Given the description of an element on the screen output the (x, y) to click on. 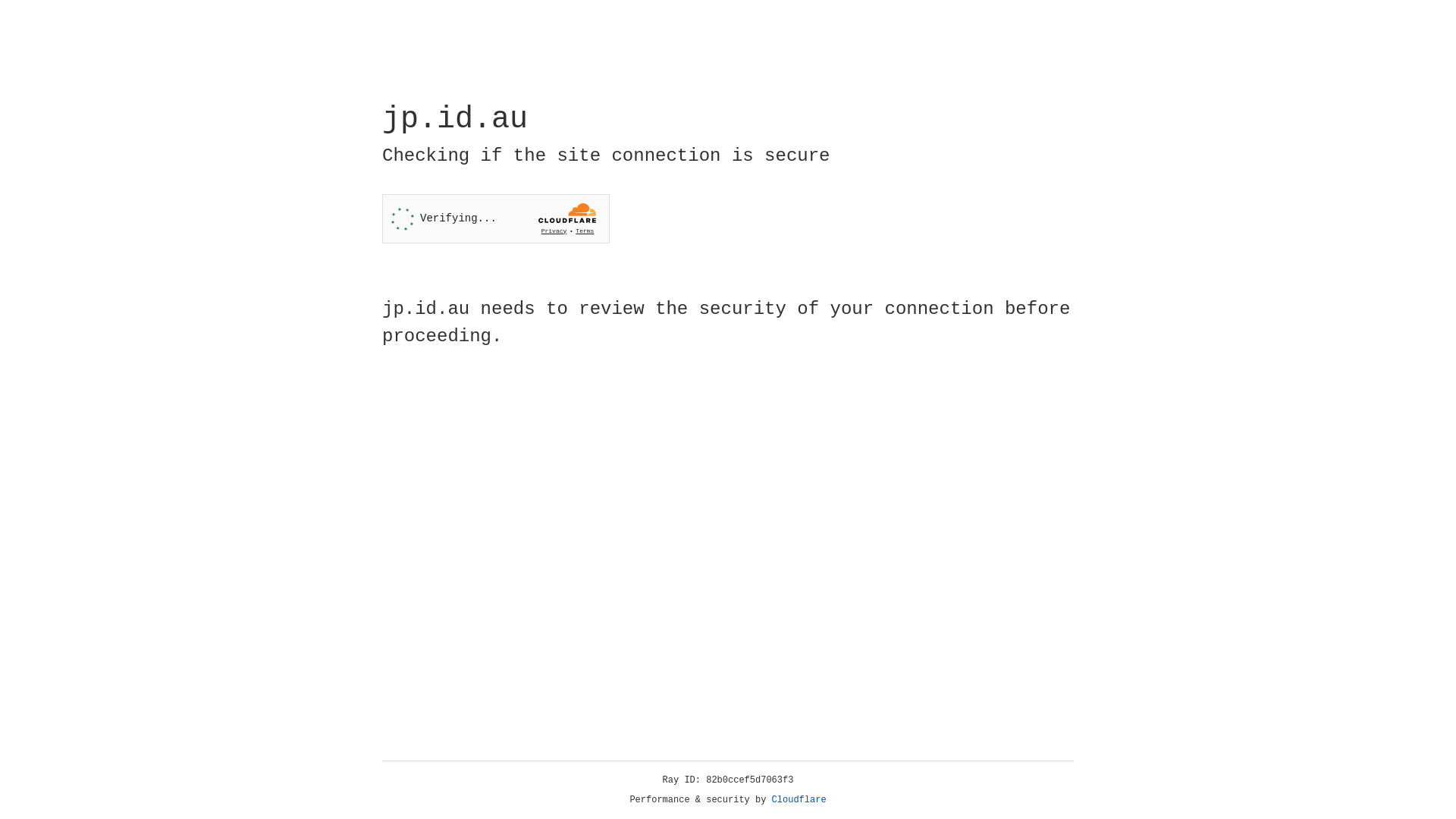
Widget containing a Cloudflare security challenge Element type: hover (495, 218)
Cloudflare Element type: text (798, 799)
